Given the description of an element on the screen output the (x, y) to click on. 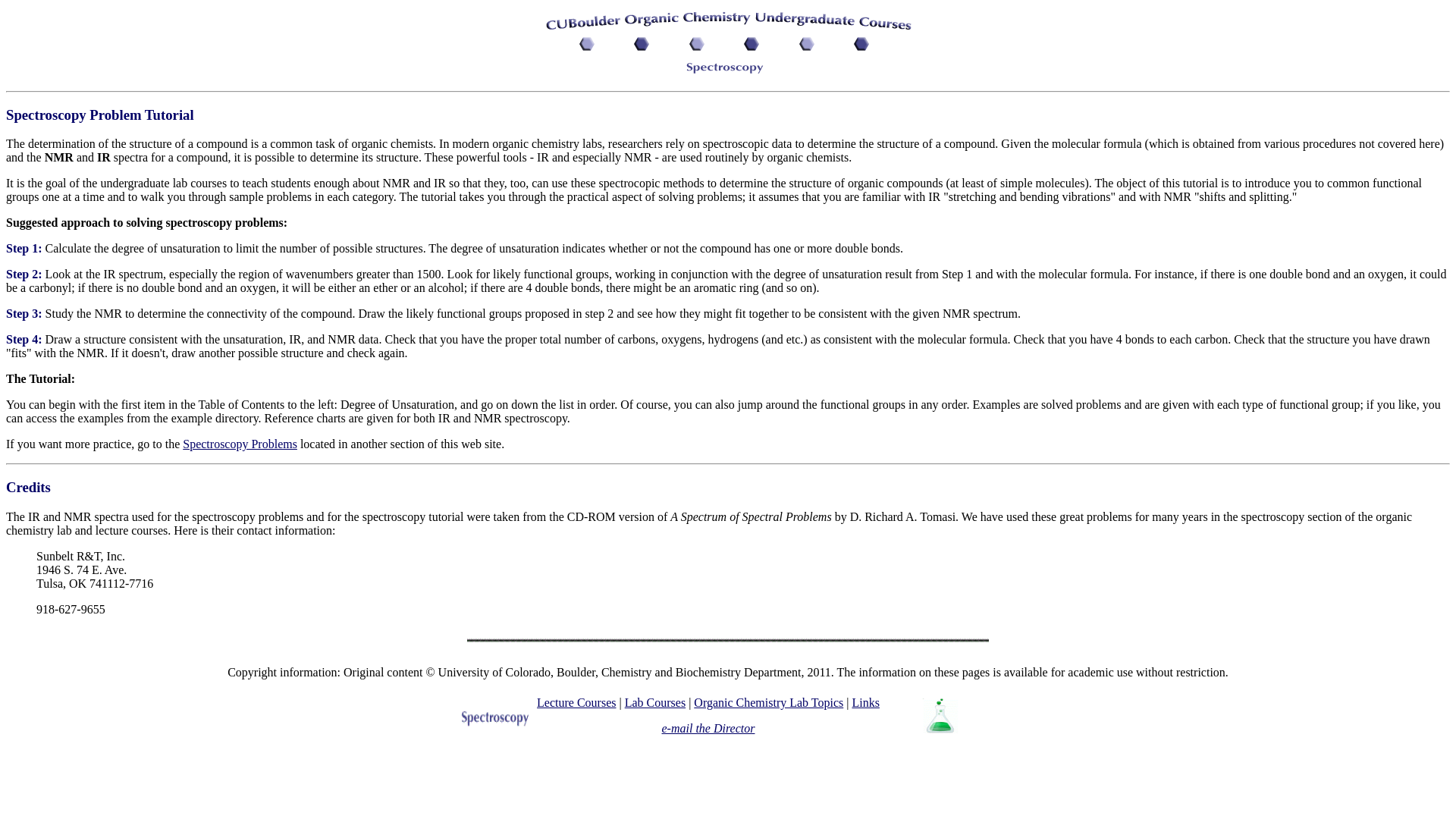
Links (865, 702)
e-mail the Director (708, 727)
Spectroscopy Problems (240, 443)
Organic Chemistry Lab Topics (768, 702)
Lecture Courses (576, 702)
Lab Courses (654, 702)
